Given the description of an element on the screen output the (x, y) to click on. 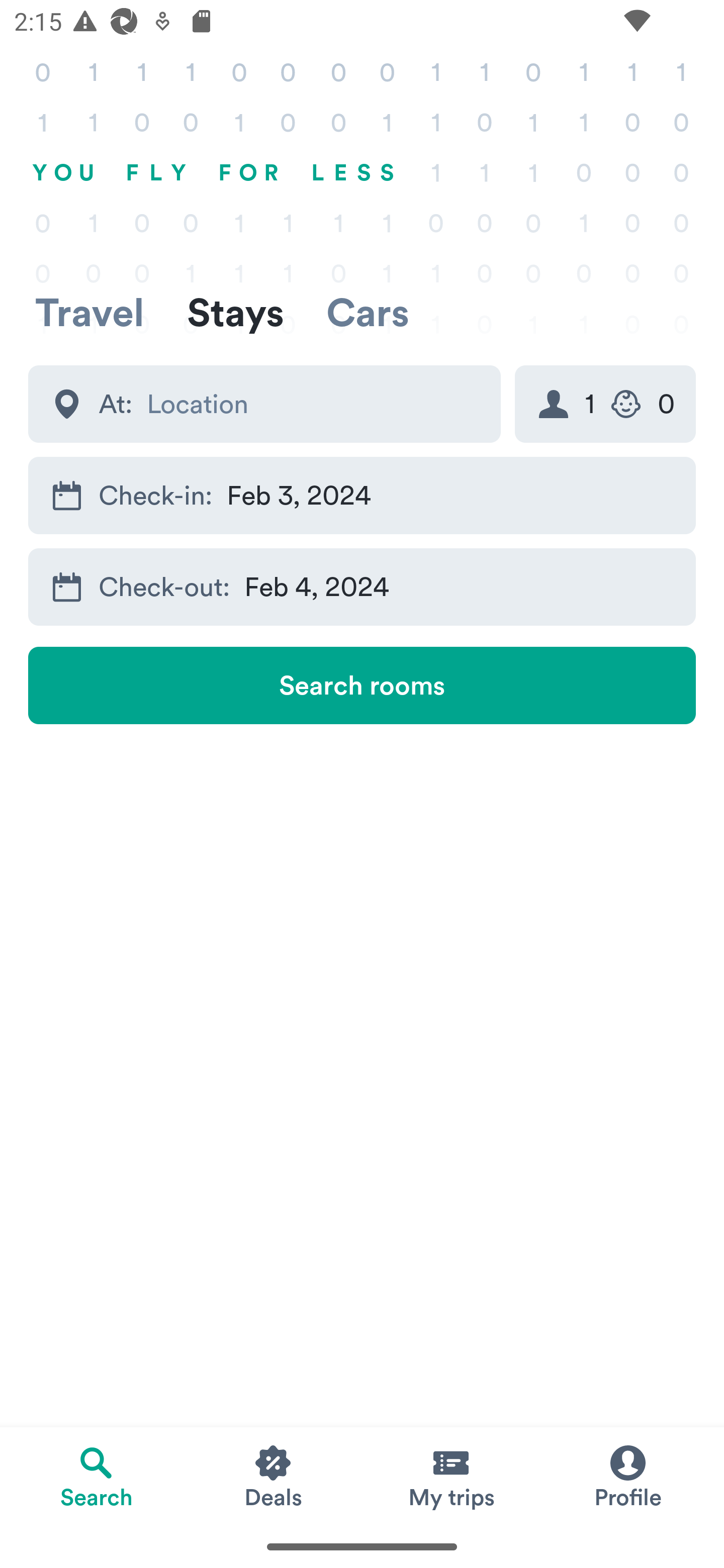
Travel (89, 311)
Stays (235, 311)
Cars (367, 311)
At: (264, 404)
1 0 (604, 404)
Check-in: Feb 3, 2024 (361, 495)
Check-out: Feb 4, 2024 (361, 586)
Search rooms (361, 684)
Deals (273, 1475)
My trips (450, 1475)
Profile (627, 1475)
